Given the description of an element on the screen output the (x, y) to click on. 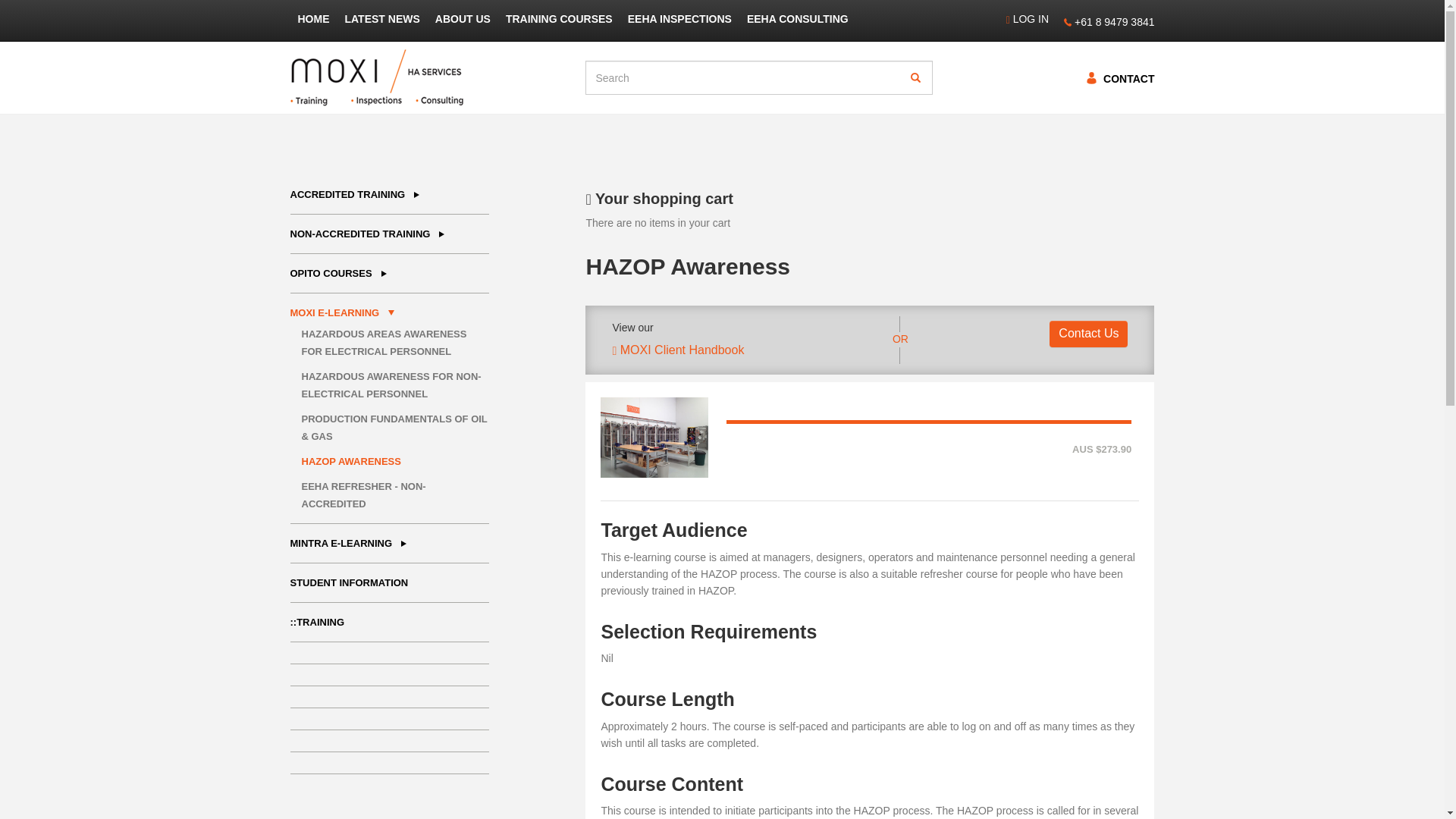
HAZARDOUS AWARENESS FOR NON-ELECTRICAL PERSONNEL (391, 385)
HAZARDOUS AREAS AWARENESS FOR ELECTRICAL PERSONNEL (384, 342)
EEHA REFRESHER - NON-ACCREDITED (363, 494)
HAZOP AWARENESS (351, 460)
LATEST NEWS (381, 18)
::TRAINING (316, 622)
TRAINING COURSES (558, 18)
MINTRA E-LEARNING (348, 542)
OPITO COURSES (338, 273)
MOXI E-LEARNING (341, 312)
